Given the description of an element on the screen output the (x, y) to click on. 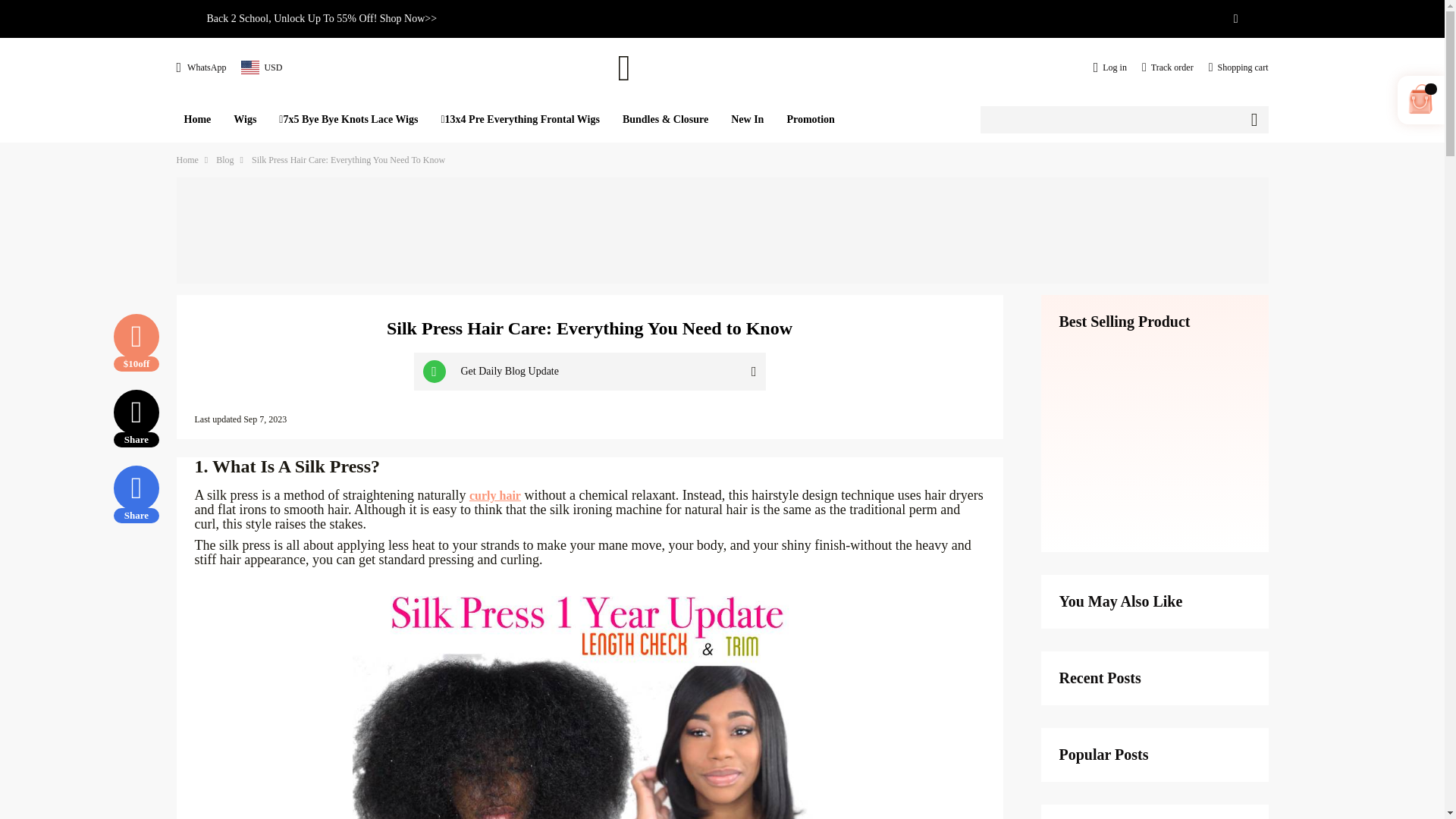
Home (197, 119)
Promotion (810, 119)
Log in (1109, 66)
Wigs (244, 119)
julia (722, 67)
New In (747, 119)
curly hair (494, 494)
